Given the description of an element on the screen output the (x, y) to click on. 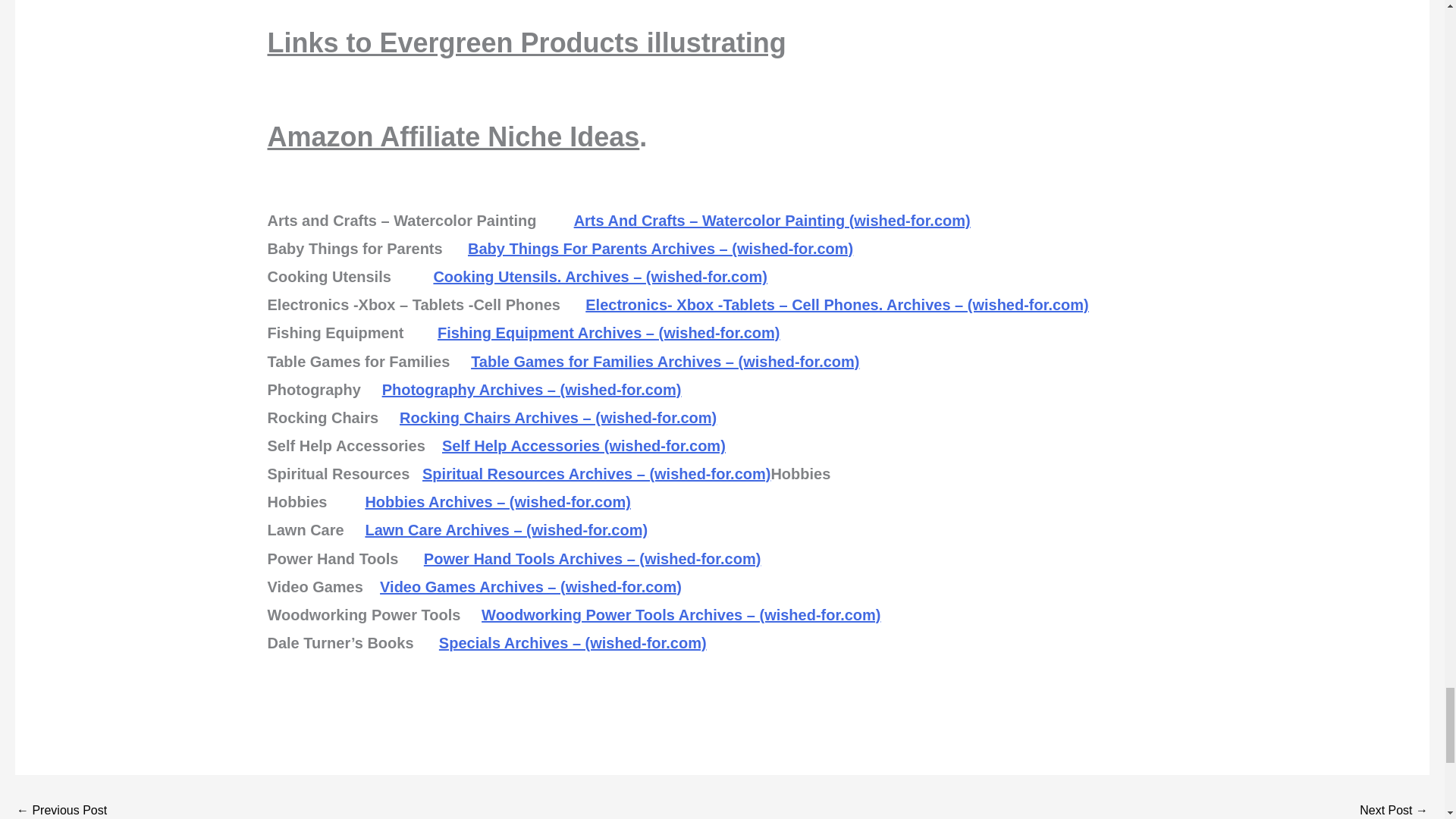
Card Games Traditional Togetherness (61, 810)
Ten Player Board Games (1393, 810)
